Given the description of an element on the screen output the (x, y) to click on. 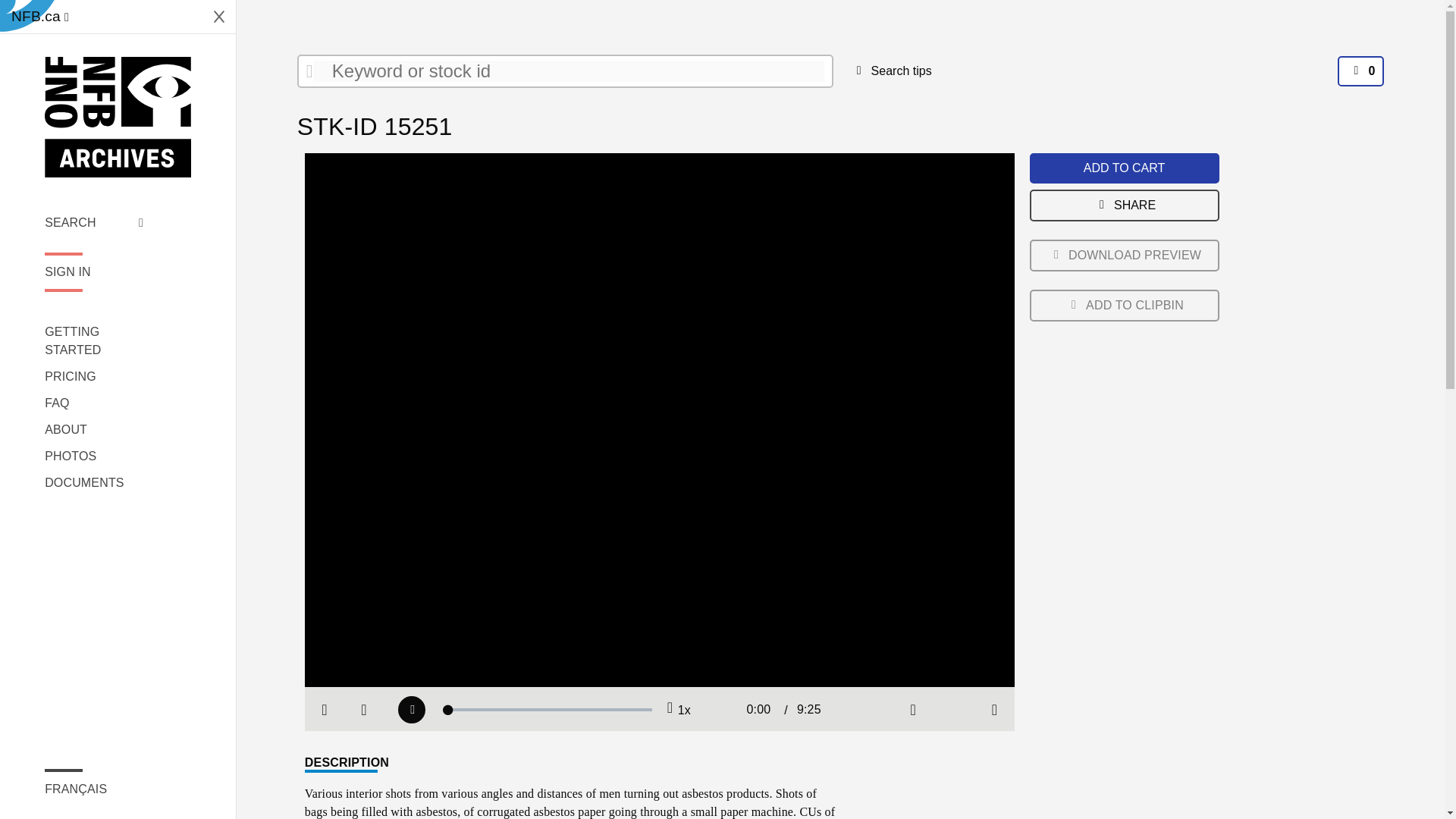
0 (1361, 71)
Seek backward 10 seconds (363, 710)
Playback Rate (678, 709)
Play (411, 709)
Full Screen (994, 710)
Seek backward 10 seconds (363, 710)
National Film Board of Canada (117, 116)
Full Screen (994, 710)
Restart from beginning (324, 710)
Playback Rate (678, 709)
FAQ (93, 402)
Mute (912, 710)
SEARCH (93, 222)
GETTING STARTED (93, 340)
ABOUT (93, 429)
